Given the description of an element on the screen output the (x, y) to click on. 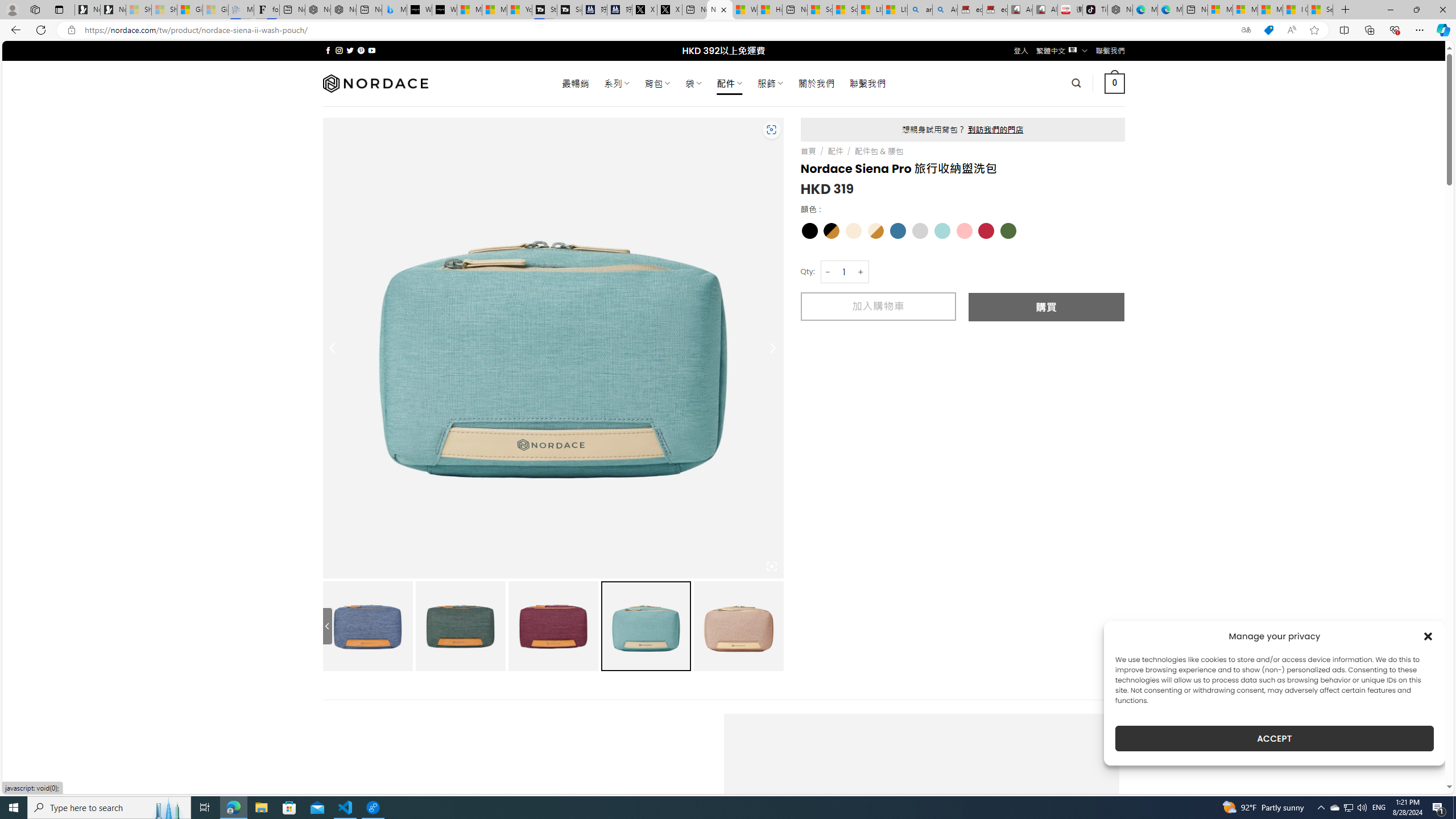
X (669, 9)
Follow on Facebook (327, 50)
App bar (728, 29)
Show translate options (1245, 29)
Back (13, 29)
Restore (1416, 9)
Streaming Coverage | T3 (544, 9)
Newsletter Sign Up (113, 9)
Collections (1369, 29)
